Given the description of an element on the screen output the (x, y) to click on. 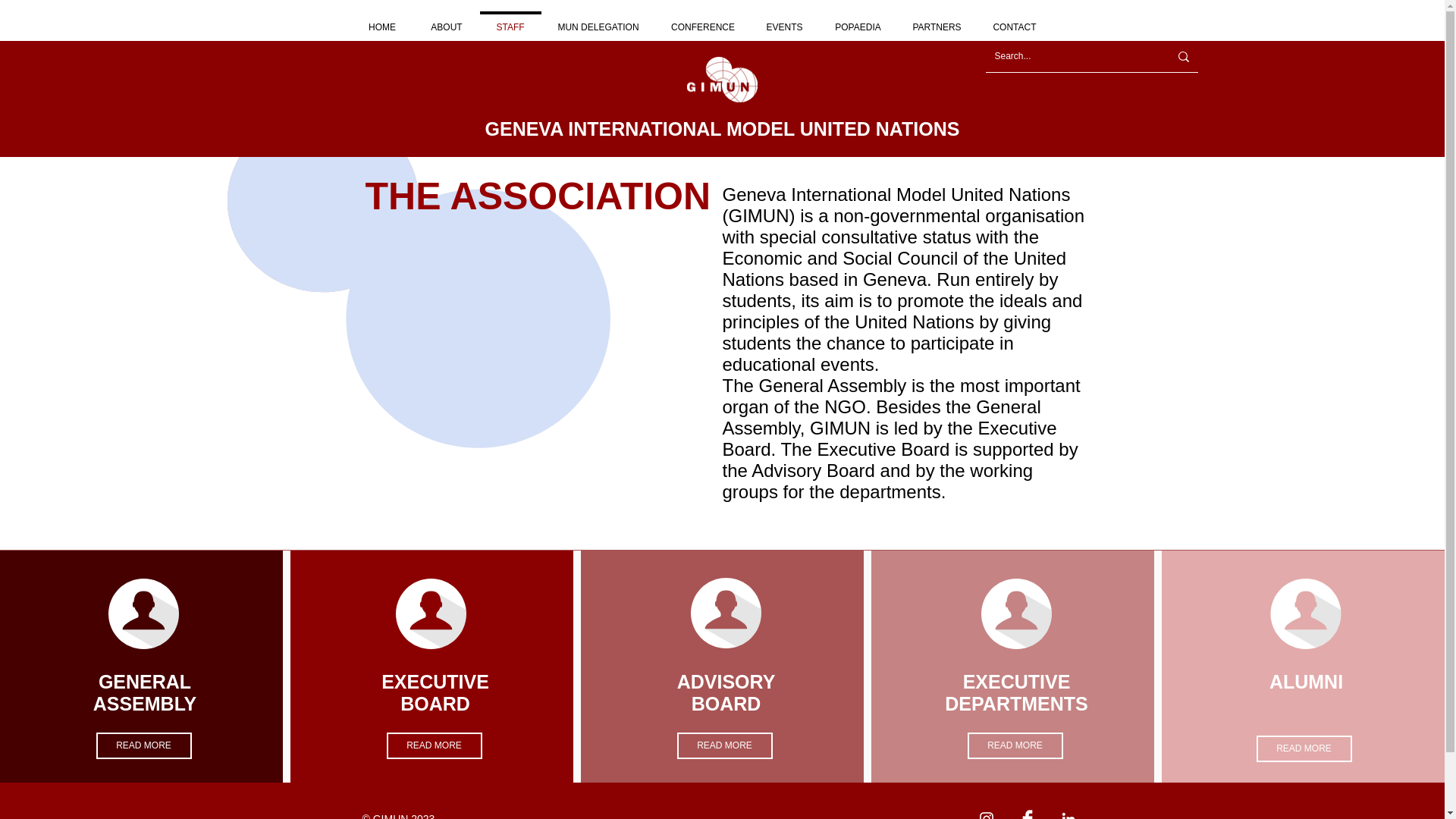
READ MORE (434, 745)
PARTNERS (937, 20)
CONFERENCE (702, 20)
POPAEDIA (858, 20)
READ MORE (143, 745)
STAFF (509, 20)
HOME (381, 20)
READ MORE (1303, 748)
CONTACT (1014, 20)
READ MORE (1015, 745)
ABOUT (446, 20)
MUN DELEGATION (598, 20)
READ MORE (724, 745)
EVENTS (784, 20)
